Given the description of an element on the screen output the (x, y) to click on. 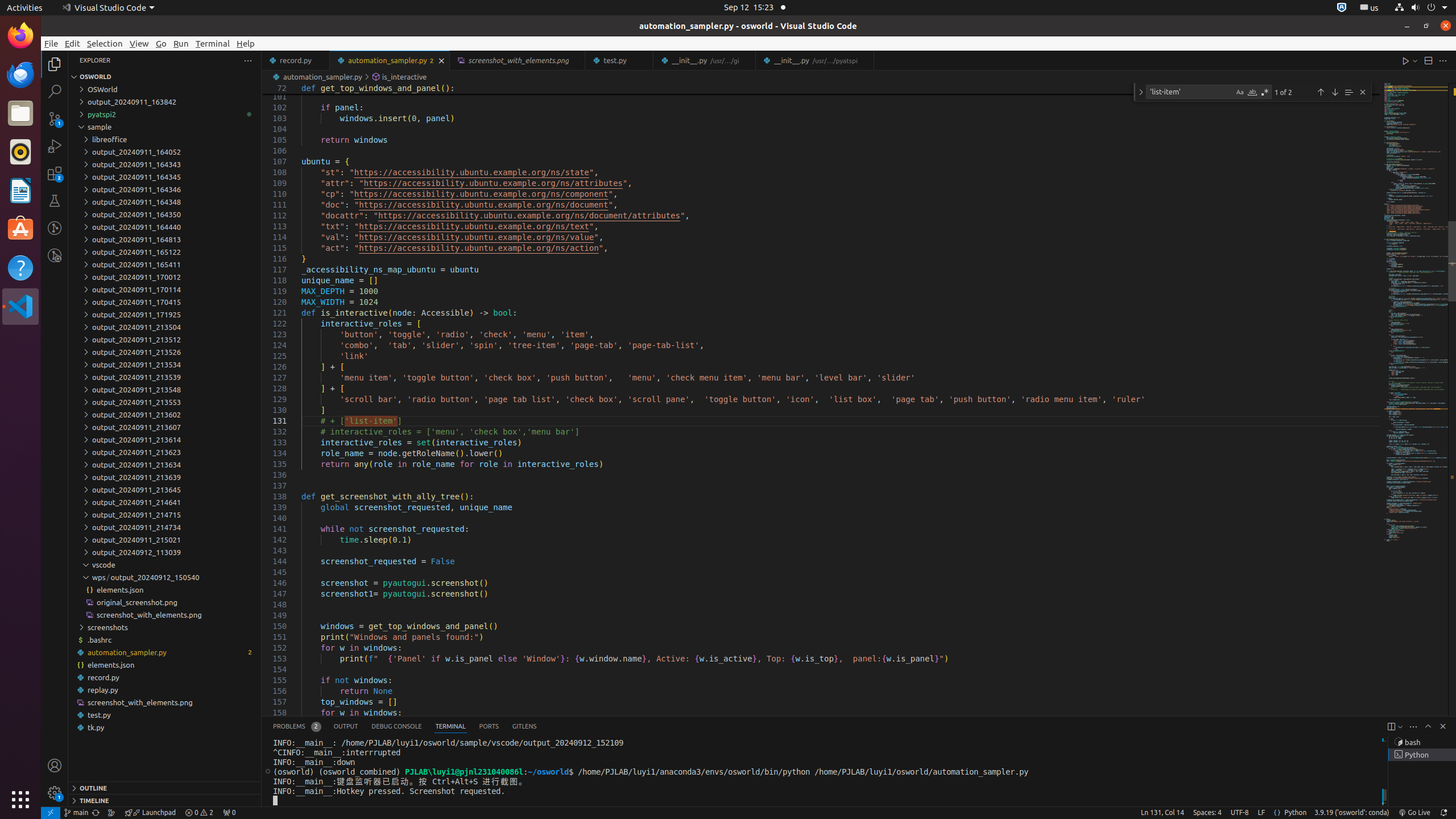
Terminal 1 bash Element type: list-item (1422, 741)
Debug Console (Ctrl+Shift+Y) Element type: page-tab (396, 726)
output_20240911_213623 Element type: tree-item (164, 451)
output_20240911_171925 Element type: tree-item (164, 314)
Firefox Web Browser Element type: push-button (20, 35)
